Given the description of an element on the screen output the (x, y) to click on. 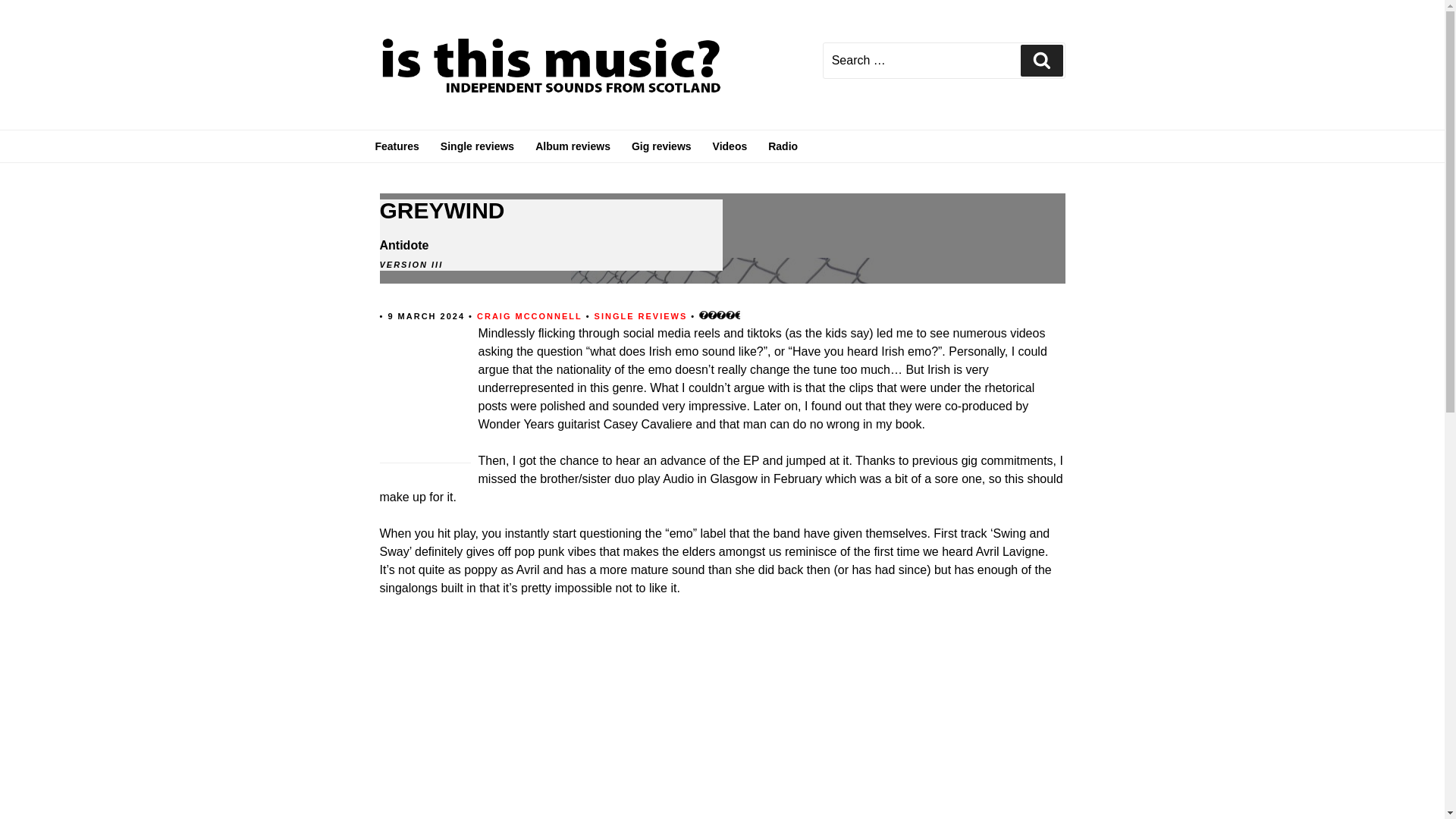
Search (1041, 60)
Videos (729, 145)
Gig reviews (661, 145)
Single reviews (476, 145)
SINGLE REVIEWS (642, 315)
Radio (782, 145)
Posts by Craig McConnell (529, 315)
CRAIG MCCONNELL (529, 315)
Features (396, 145)
YouTube video player (590, 717)
Album reviews (572, 145)
